Given the description of an element on the screen output the (x, y) to click on. 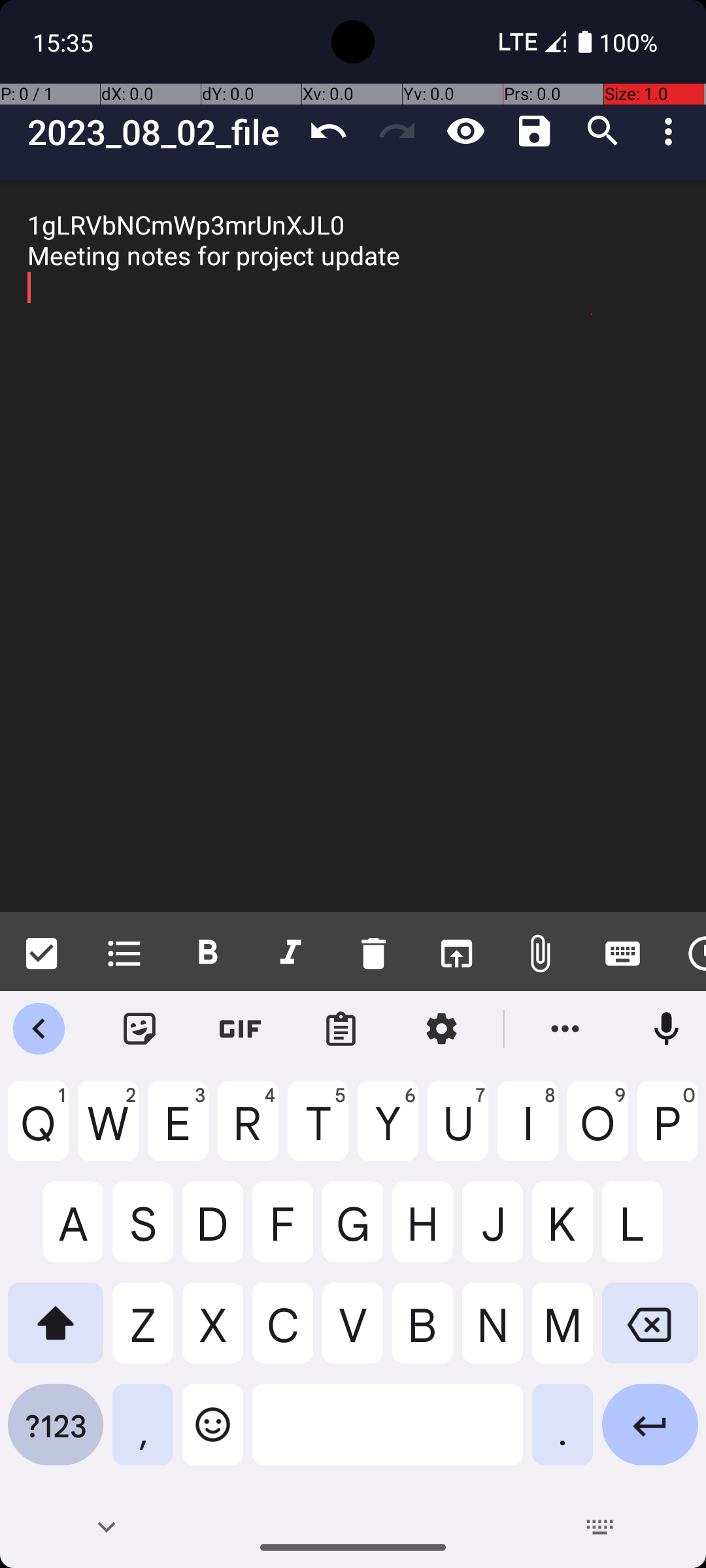
2023_08_02_file Element type: android.widget.TextView (160, 131)
1gLRVbNCmWp3mrUnXJL0
Meeting notes for project update
 Element type: android.widget.EditText (353, 545)
